Given the description of an element on the screen output the (x, y) to click on. 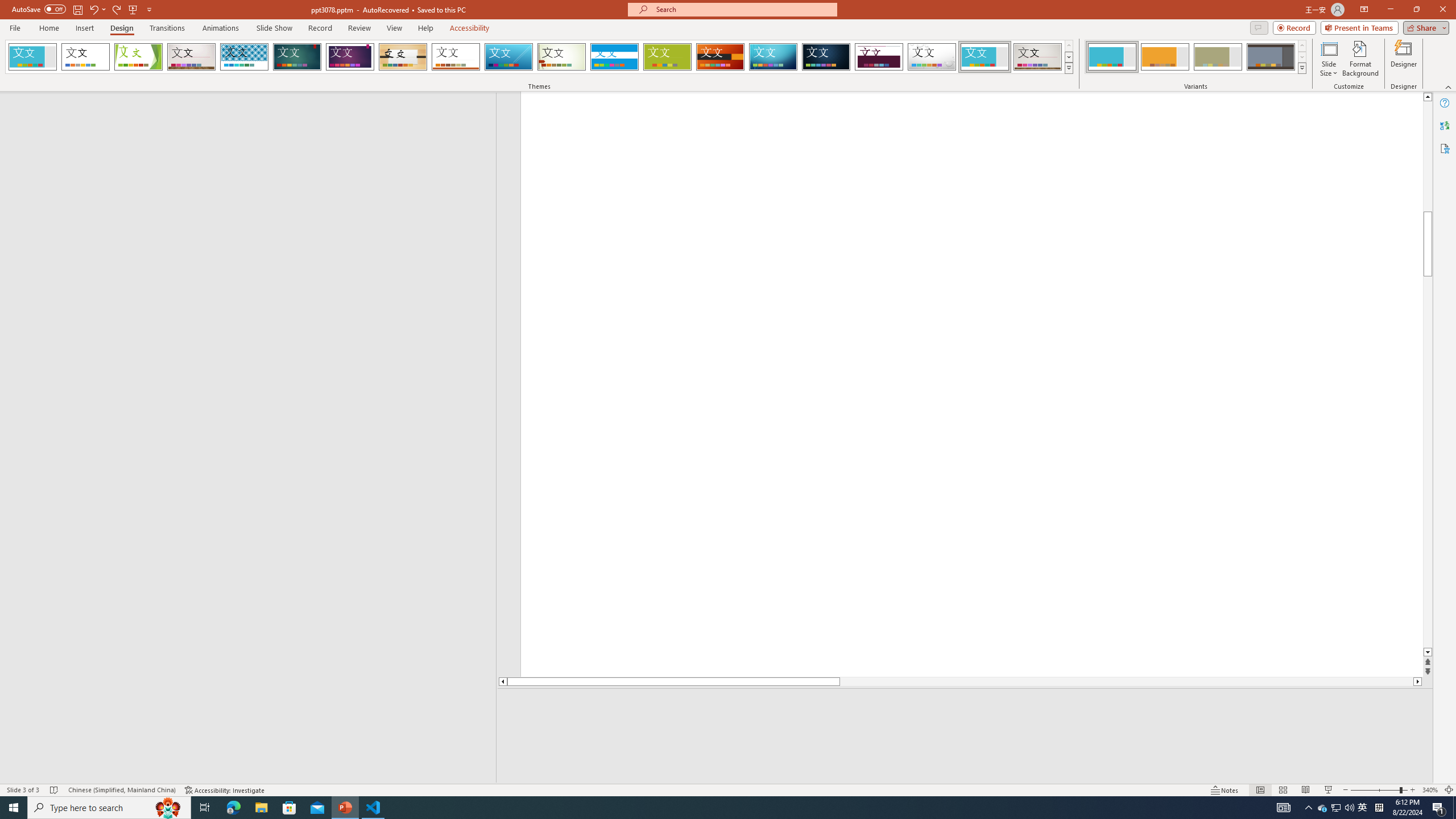
Variants (1301, 67)
AutomationID: SlideThemesGallery (539, 56)
Frame (984, 56)
Zoom 340% (1430, 790)
